Given the description of an element on the screen output the (x, y) to click on. 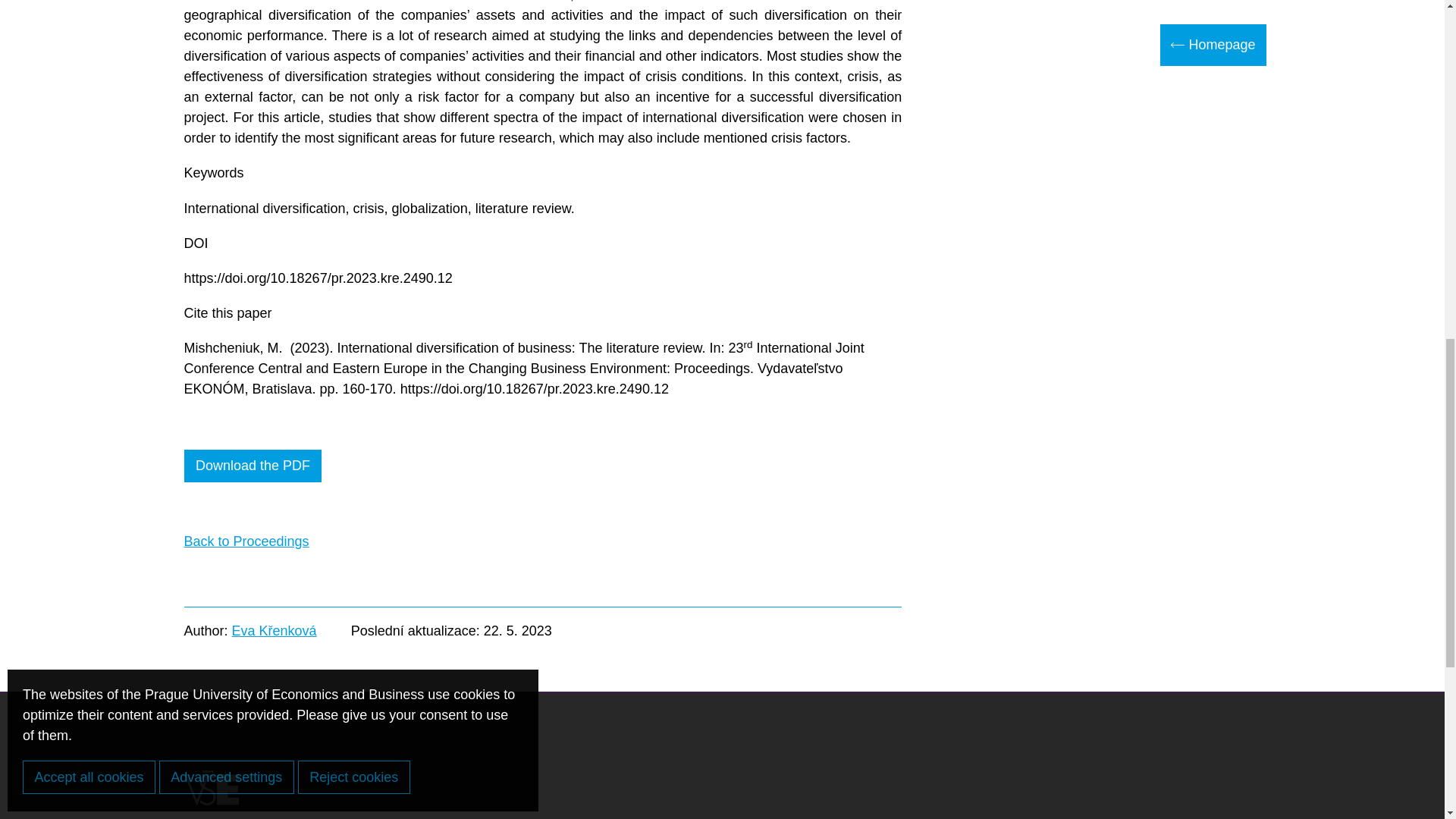
Download the PDF (252, 465)
Back to Proceedings (245, 540)
